Given the description of an element on the screen output the (x, y) to click on. 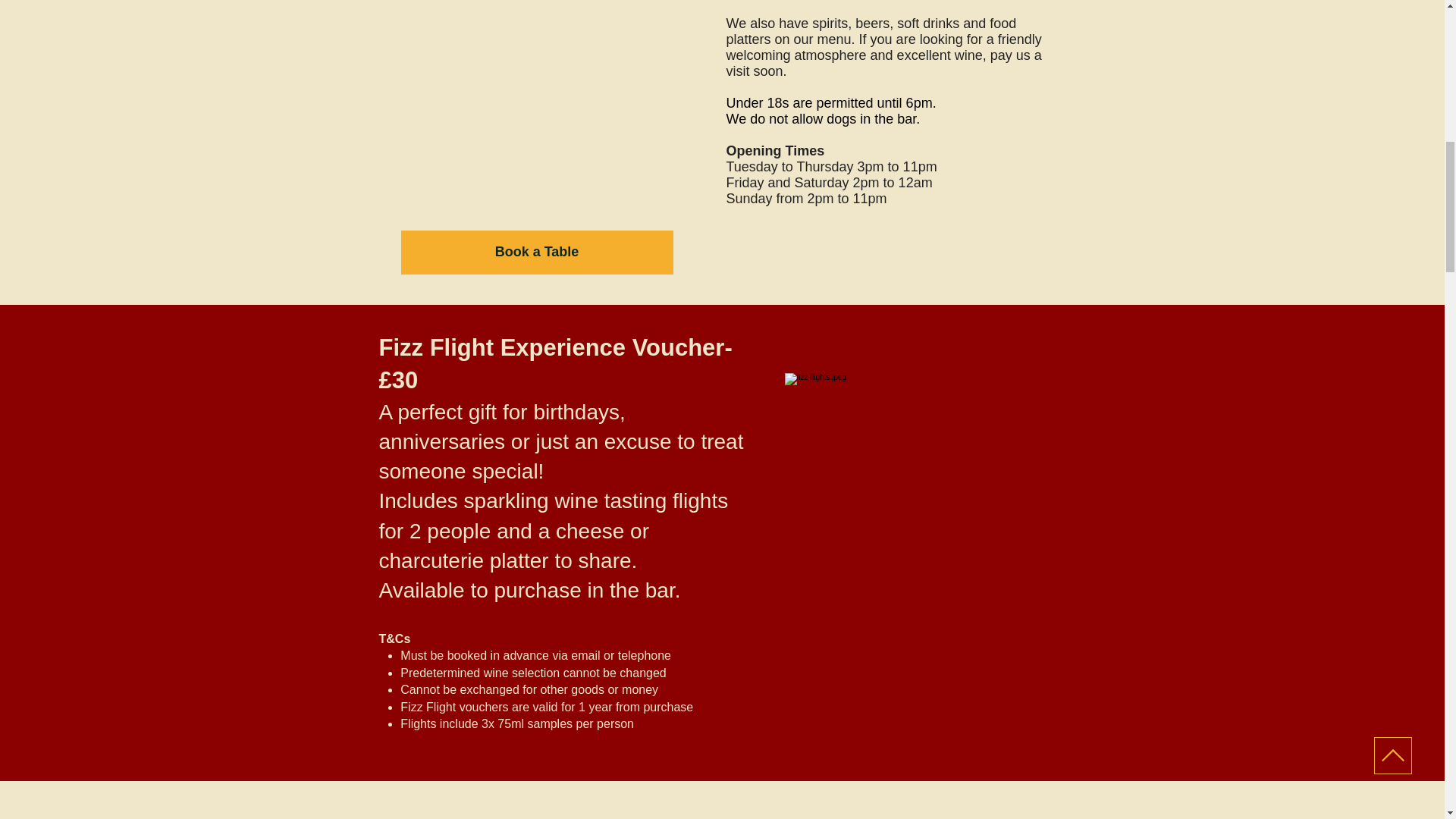
Book a Table (536, 252)
